Given the description of an element on the screen output the (x, y) to click on. 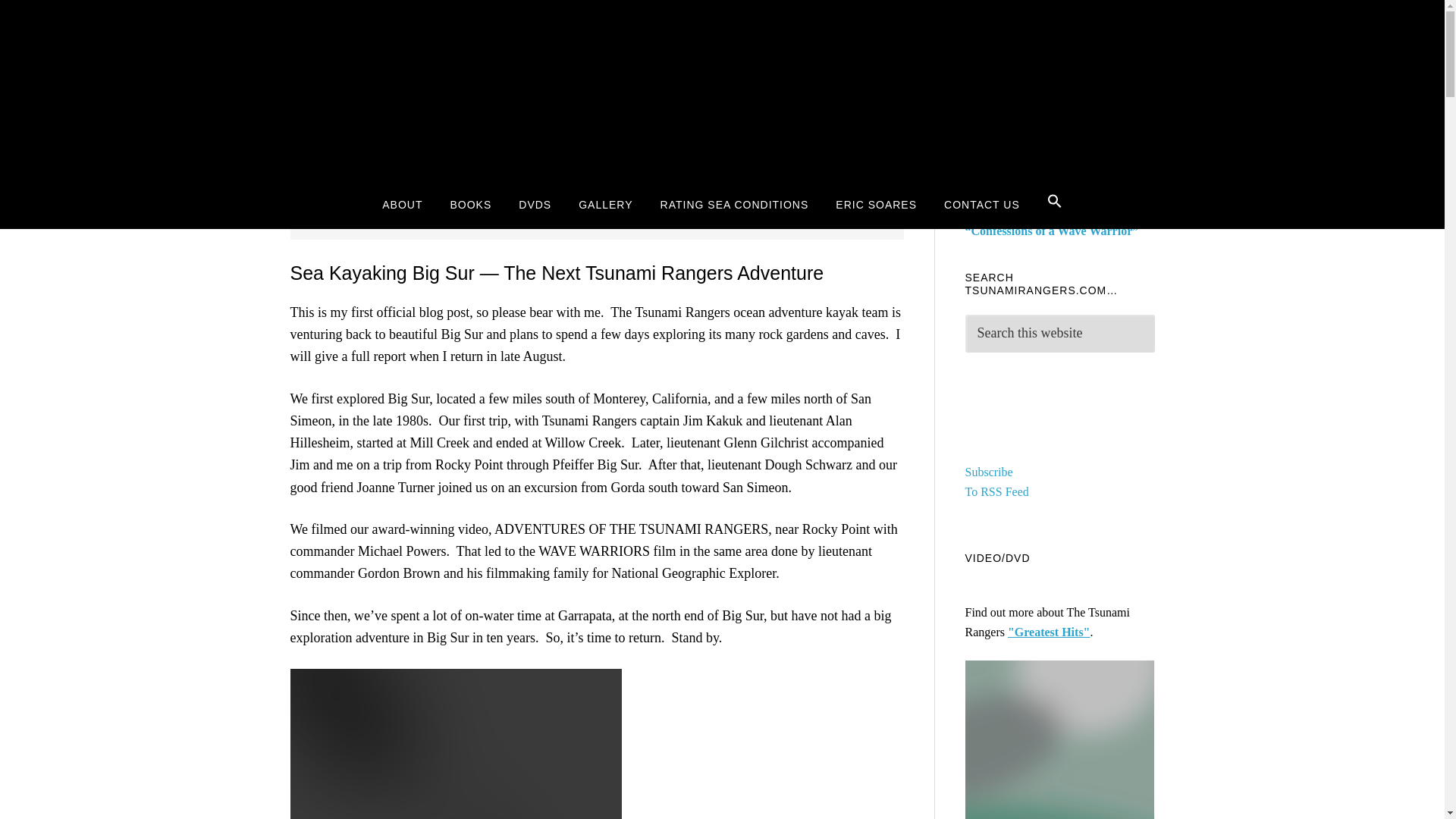
California Coast Sea Kayaking (484, 200)
Home (383, 200)
ERIC SOARES (876, 204)
BOOKS (470, 204)
ABOUT (401, 204)
Eric Soares Sea Kayaking Adventures (995, 481)
Eric Soares Sea Kayaking Adventures (996, 451)
